Given the description of an element on the screen output the (x, y) to click on. 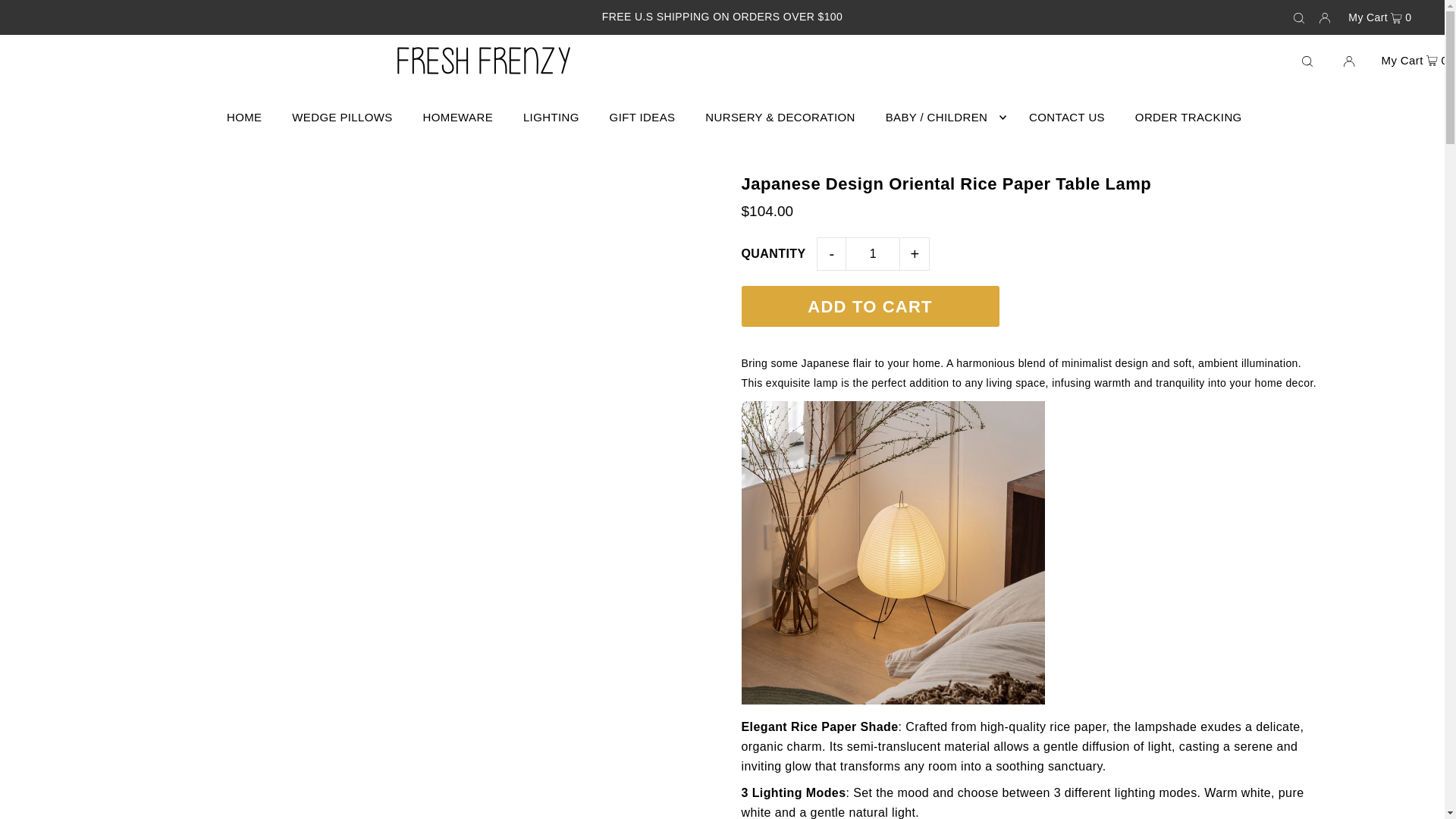
HOME (244, 117)
LIGHTING (550, 117)
Add to Cart (869, 305)
GIFT IDEAS (642, 117)
1 (872, 254)
HOMEWARE (457, 117)
WEDGE PILLOWS (340, 117)
